Given the description of an element on the screen output the (x, y) to click on. 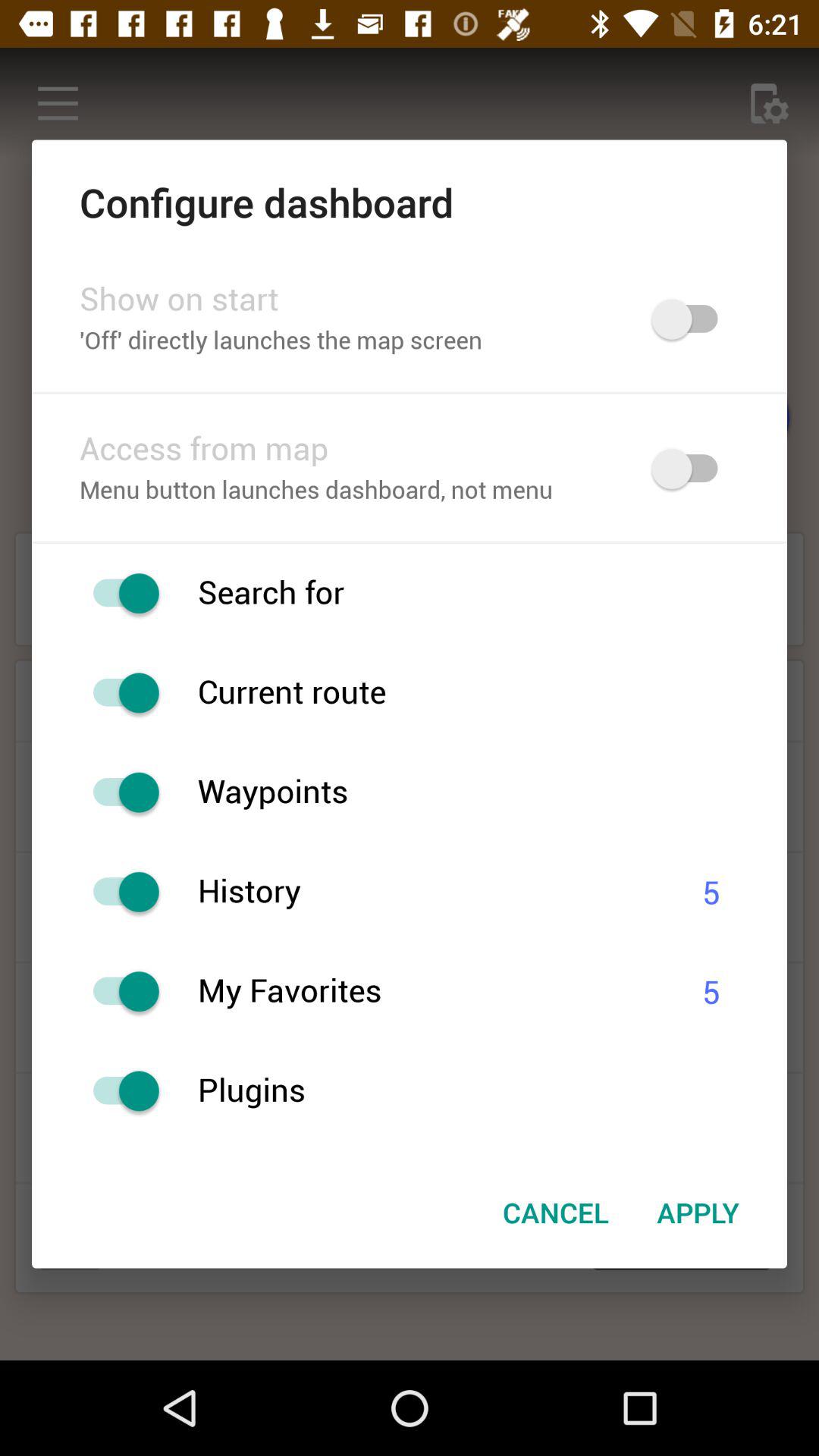
toggle history option (118, 892)
